Given the description of an element on the screen output the (x, y) to click on. 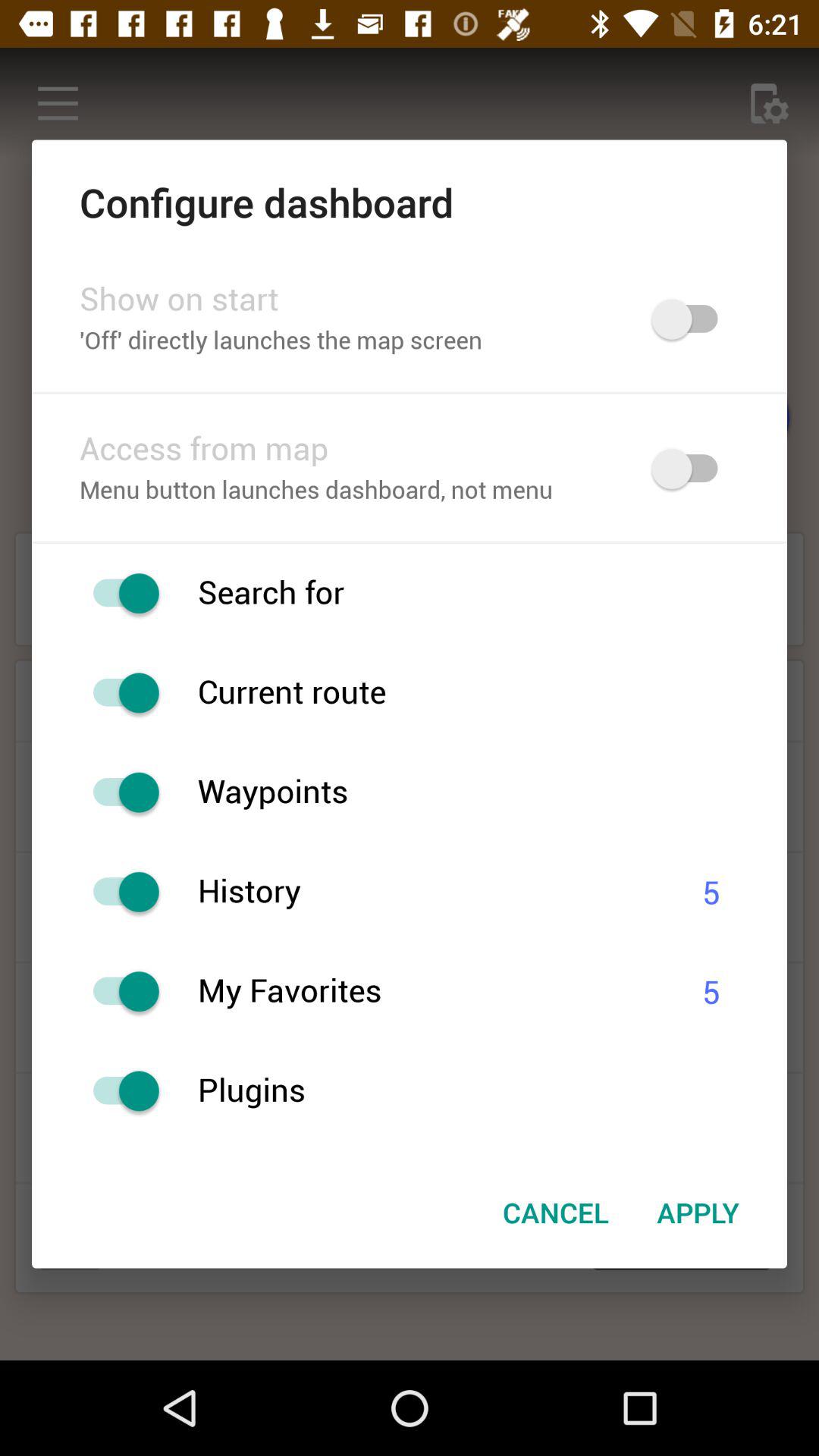
toggle history option (118, 892)
